Given the description of an element on the screen output the (x, y) to click on. 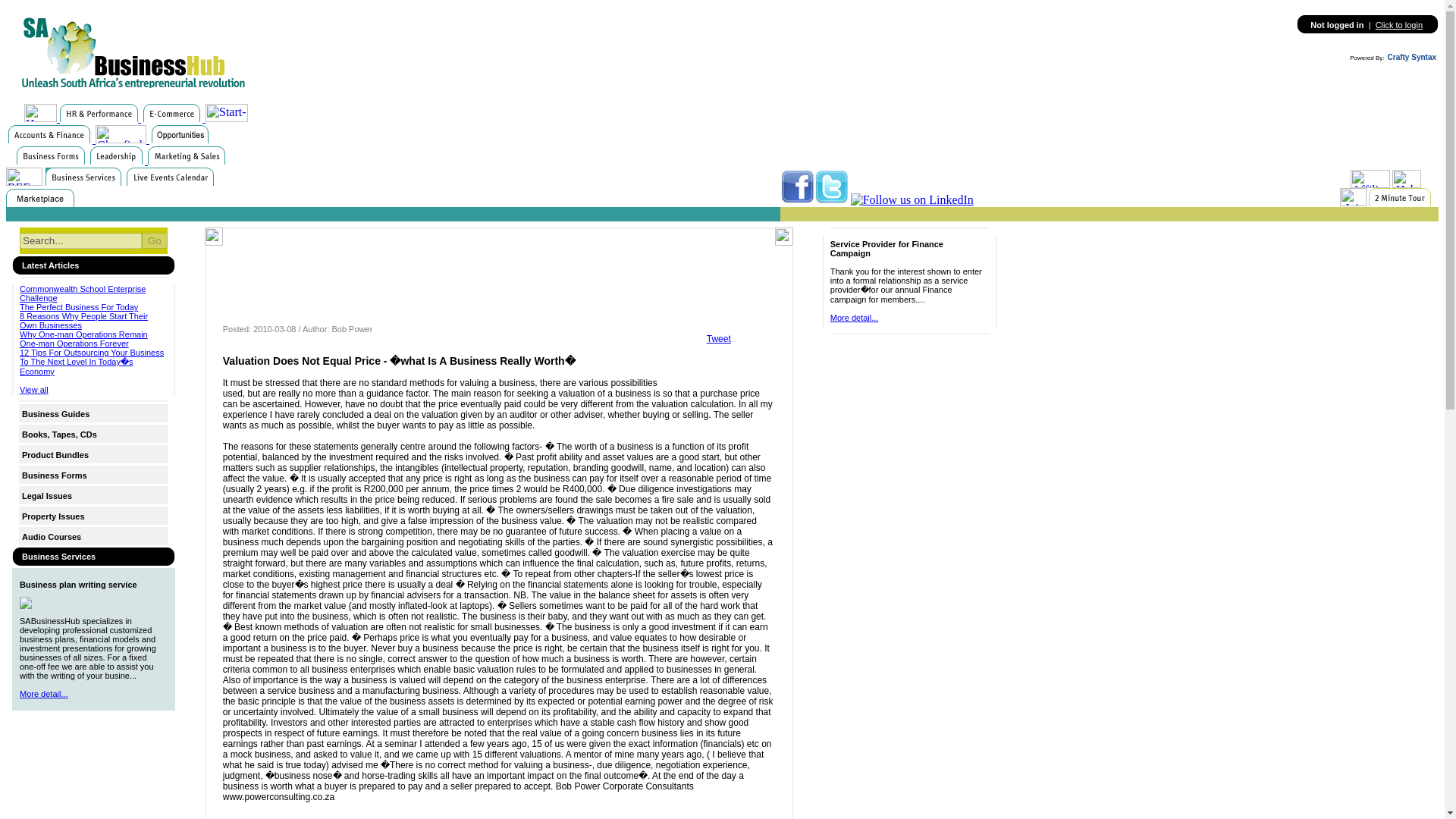
Books, Tapes, CDs (59, 433)
Go (154, 240)
Go (154, 240)
The Perfect Business For Today (79, 307)
Commonwealth School Enterprise Challenge (82, 293)
Legal Issues (46, 495)
Latest Articles (49, 265)
Property Issues (52, 515)
8 Reasons Why People Start Their Own Businesses (84, 321)
Search... (80, 240)
Product Bundles (54, 454)
Business Forms (54, 474)
Click to login (1398, 23)
Join us on Facebook! (796, 186)
Audio Courses (51, 536)
